Given the description of an element on the screen output the (x, y) to click on. 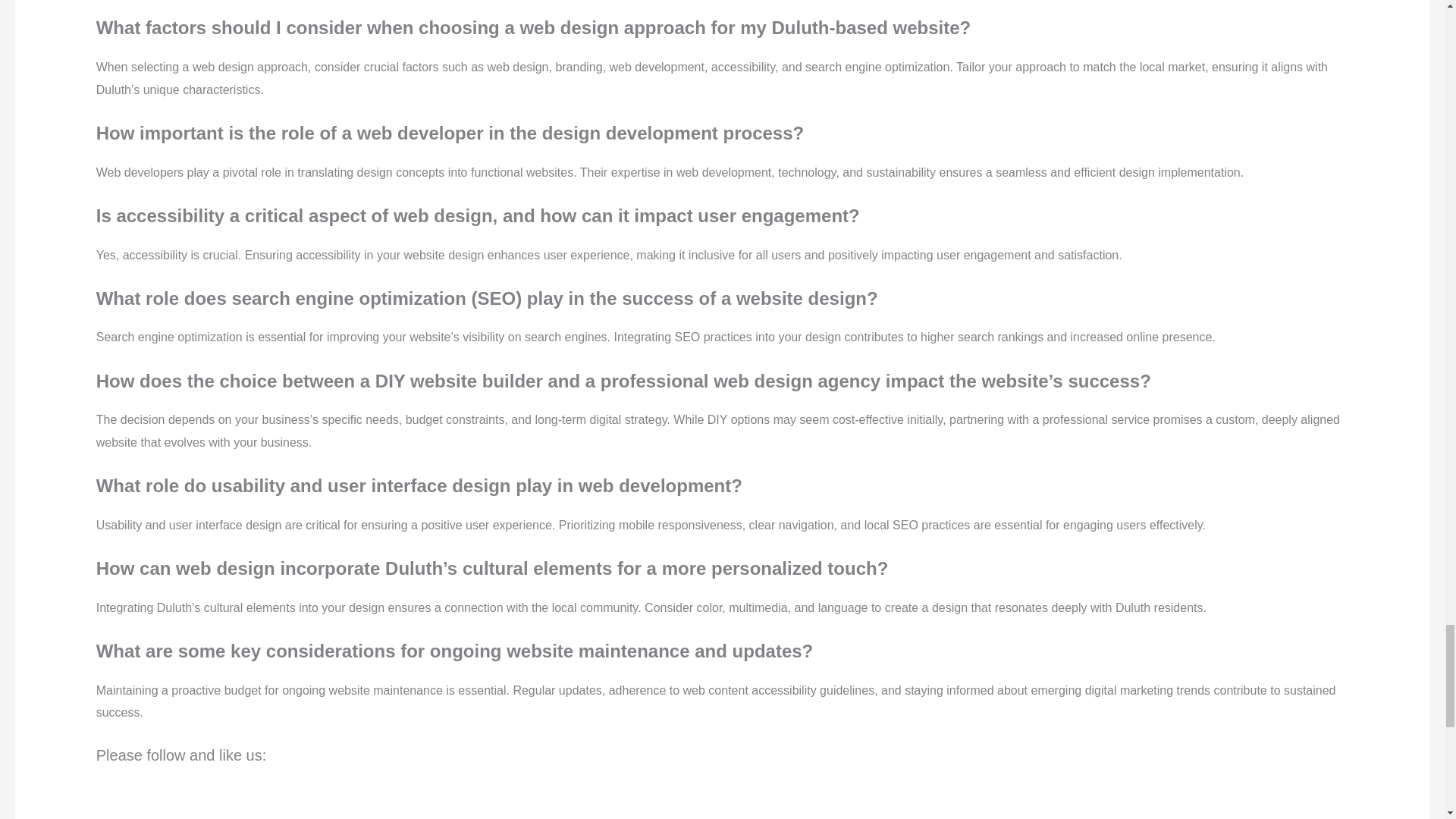
Tweet (858, 755)
Pin Share (1092, 755)
Facebook Share (625, 755)
